Given the description of an element on the screen output the (x, y) to click on. 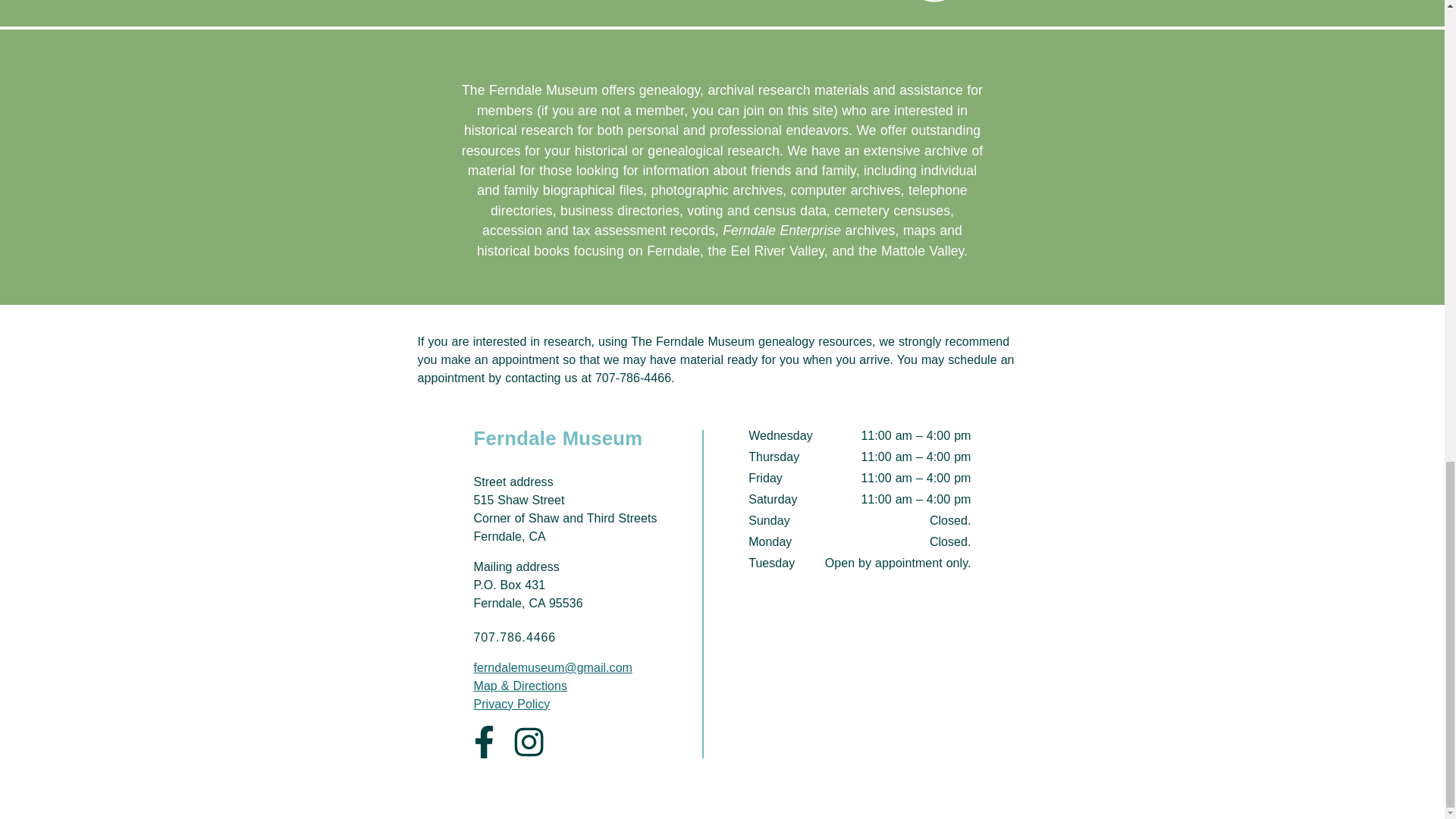
Privacy Policy (511, 703)
Visit us on instagram (528, 741)
Visit us on facebook (483, 741)
